Given the description of an element on the screen output the (x, y) to click on. 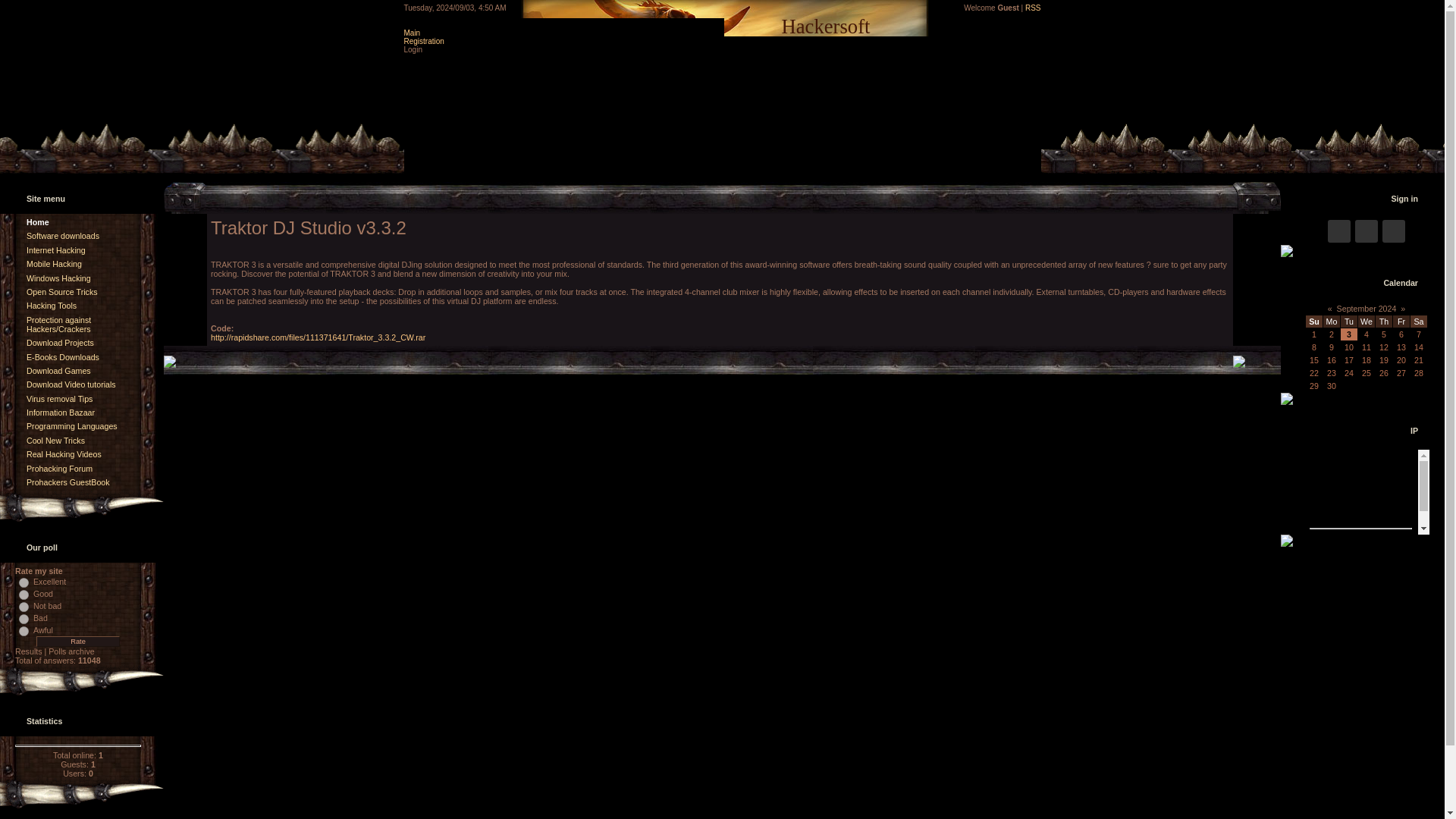
Software downloads (62, 235)
Internet Hacking (55, 249)
Rate (77, 641)
Home (37, 221)
5 (23, 631)
RSS (1033, 8)
September 2024 (1366, 307)
Registration (423, 40)
3 (23, 606)
Programming Languages (71, 425)
